Given the description of an element on the screen output the (x, y) to click on. 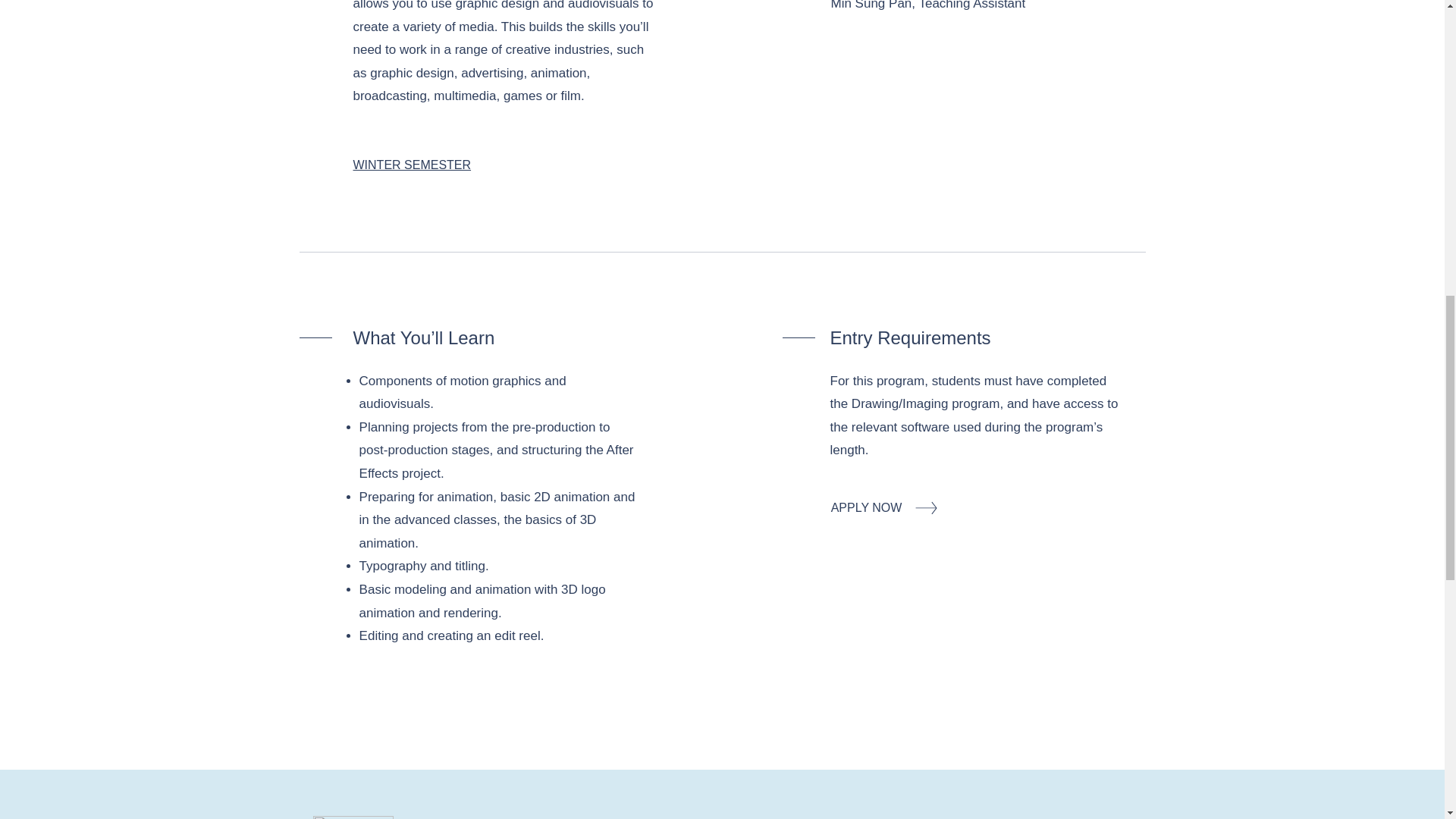
APPLY NOW (866, 508)
